Given the description of an element on the screen output the (x, y) to click on. 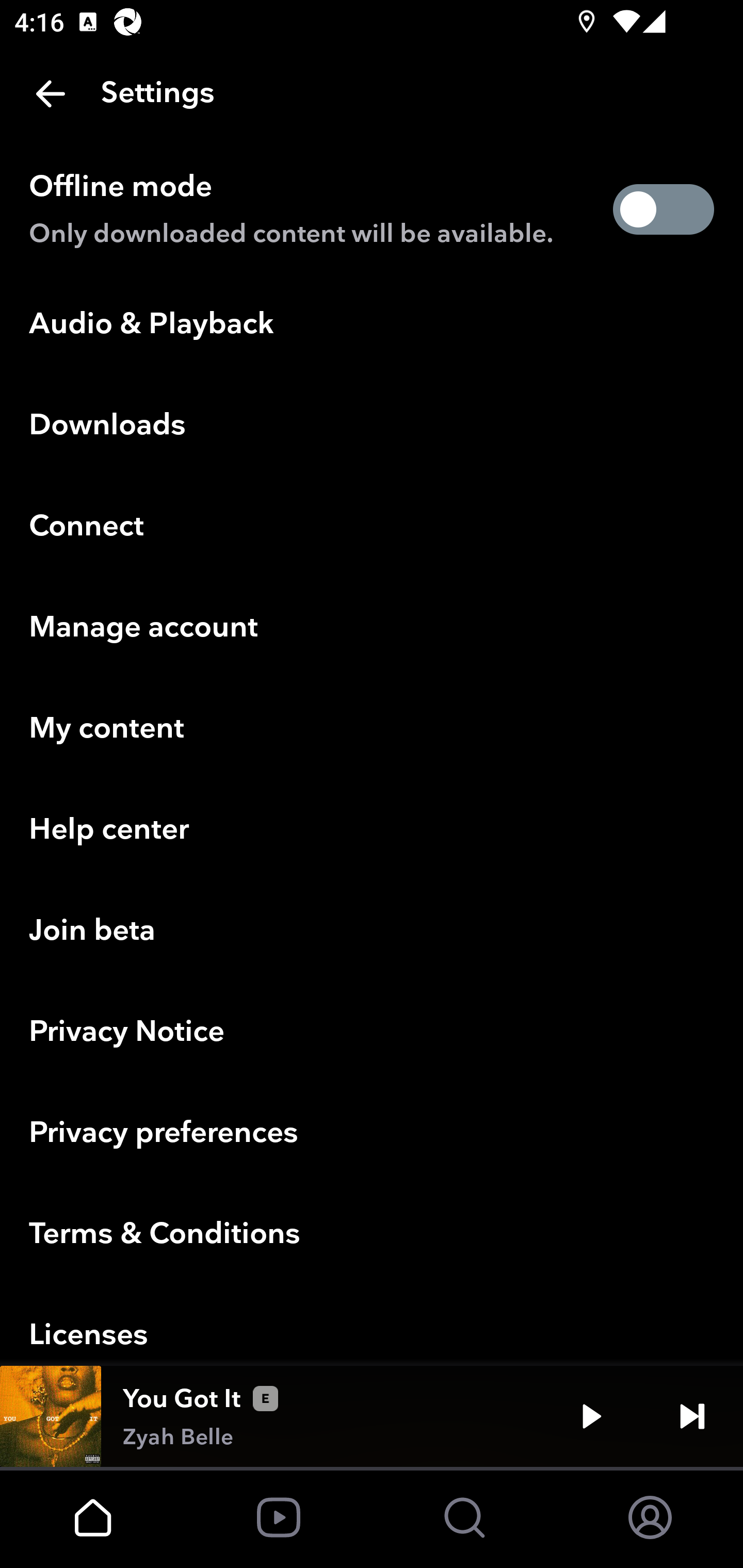
Back (50, 93)
Audio & Playback (371, 324)
Downloads (371, 425)
Connect (371, 526)
Manage account (371, 627)
My content (371, 728)
Help center (371, 830)
Join beta (371, 931)
Privacy Notice (371, 1032)
Privacy preferences (371, 1133)
Terms & Conditions (371, 1234)
Licenses (371, 1325)
You Got It    Zyah Belle Play (371, 1416)
Play (590, 1416)
